Given the description of an element on the screen output the (x, y) to click on. 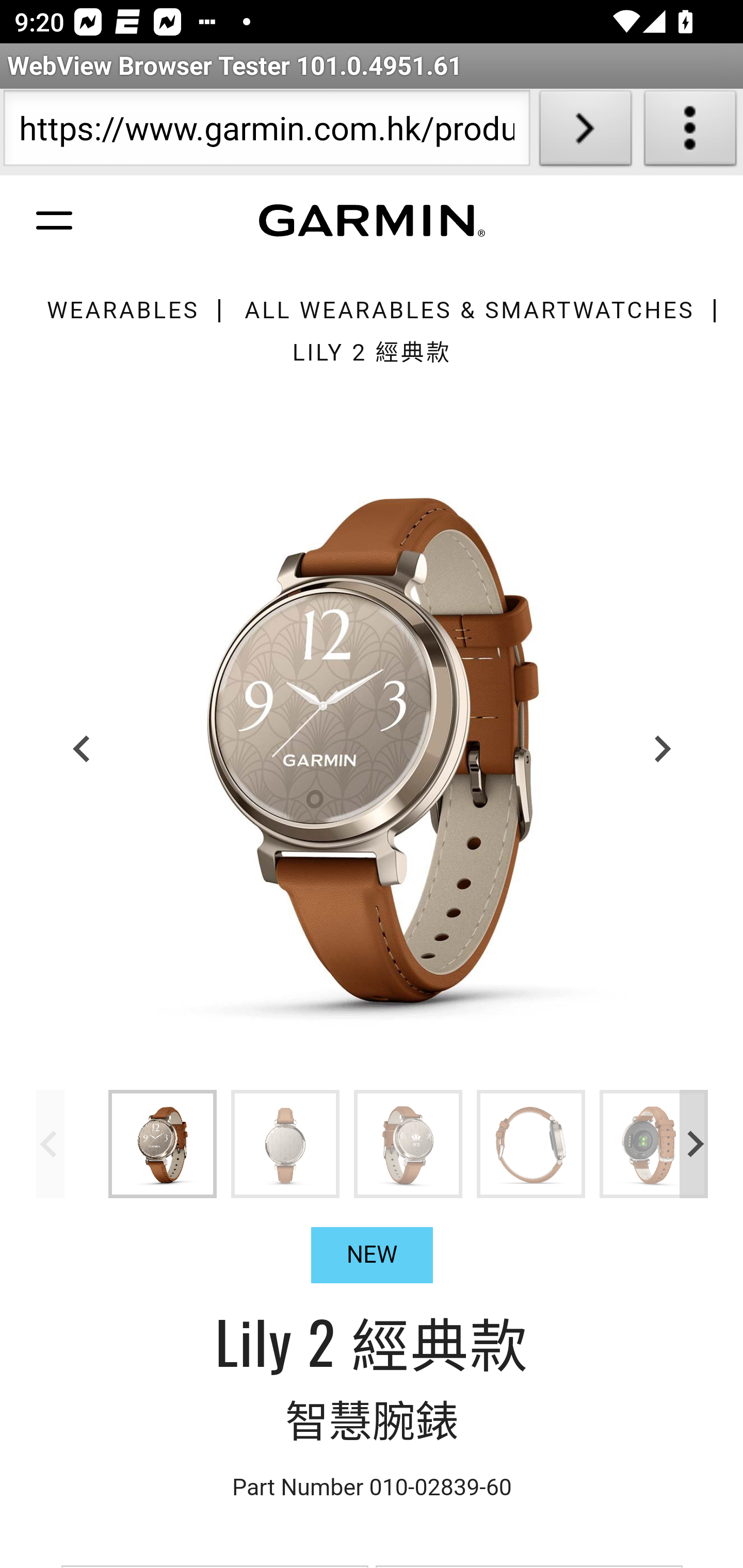
Load URL (585, 132)
About WebView (690, 132)
Navigate to Garmin.com (371, 220)
Wearables WEARABLES (122, 310)
LILY 2 經典款 (371, 351)
1 of 5 (372, 747)
Previous slide (82, 748)
Next slide (661, 748)
Previous slide (50, 1142)
Go to slide 1 (163, 1142)
Go to slide 2 (286, 1142)
Go to slide 3 (407, 1142)
Go to slide 4 (531, 1142)
Go to slide 5 (654, 1142)
Next slide (694, 1142)
